Given the description of an element on the screen output the (x, y) to click on. 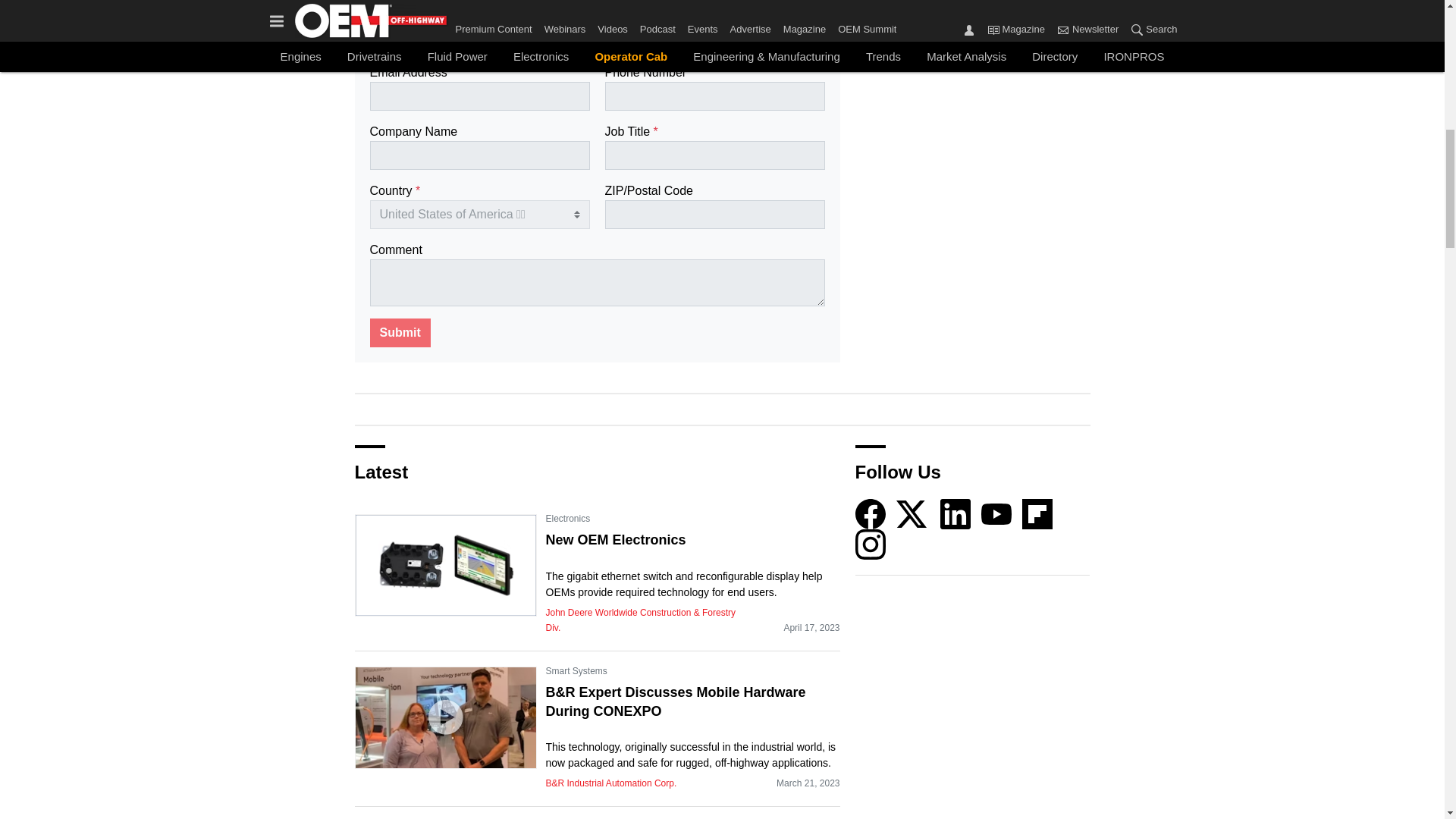
Flipboard icon (1037, 513)
YouTube icon (996, 513)
Facebook icon (870, 513)
Instagram icon (870, 544)
Twitter X icon (911, 513)
LinkedIn icon (955, 513)
